Given the description of an element on the screen output the (x, y) to click on. 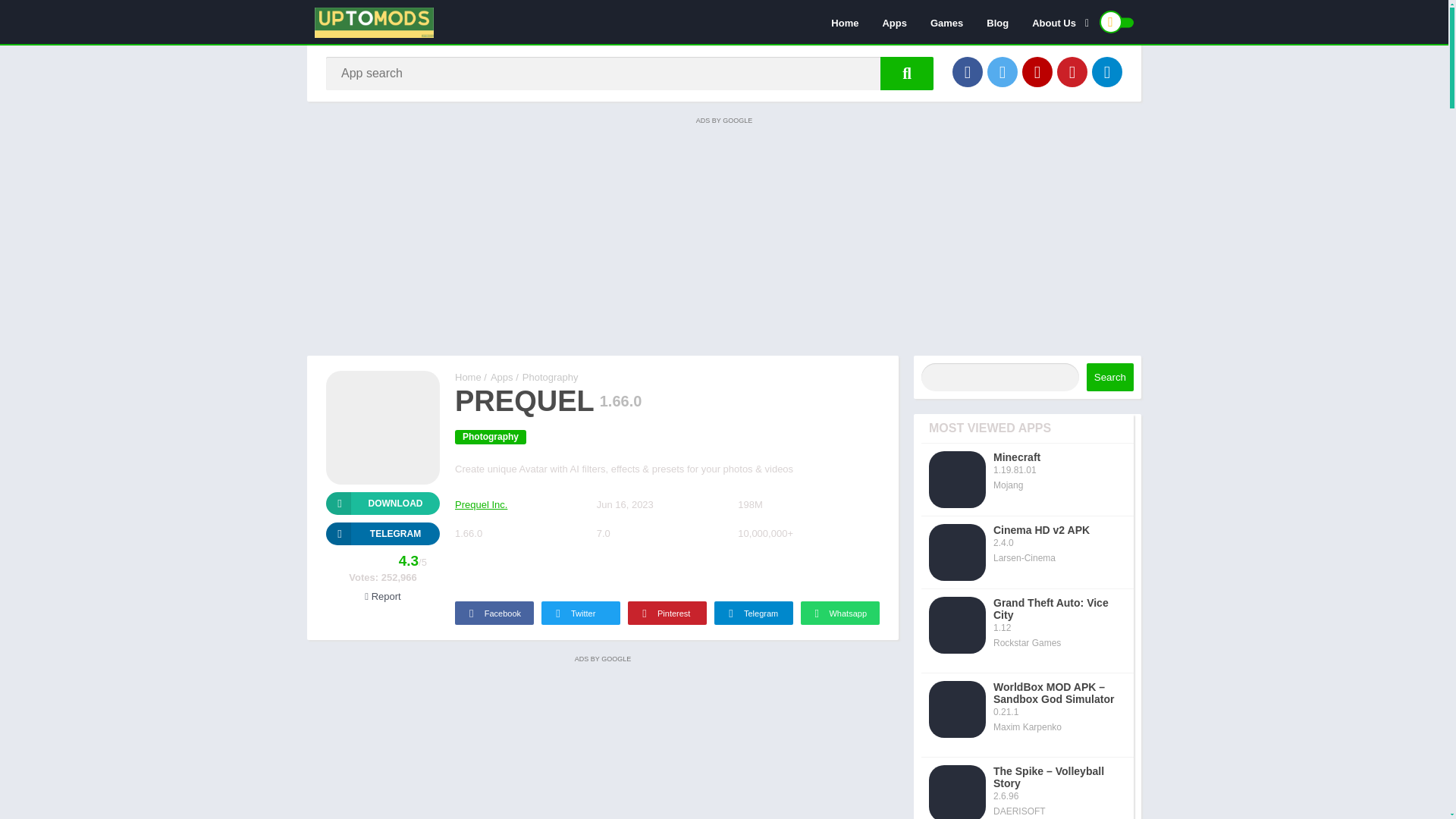
DOWNLOAD (382, 503)
Home (844, 22)
Apps (894, 22)
Twitter (1002, 71)
Photography (550, 377)
Apps (501, 377)
TELEGRAM (382, 533)
Twitter (580, 612)
YouTube (1037, 71)
About Us (1057, 22)
App search (906, 73)
Telegram (382, 533)
Home (467, 377)
Photography (489, 436)
Games (946, 22)
